Given the description of an element on the screen output the (x, y) to click on. 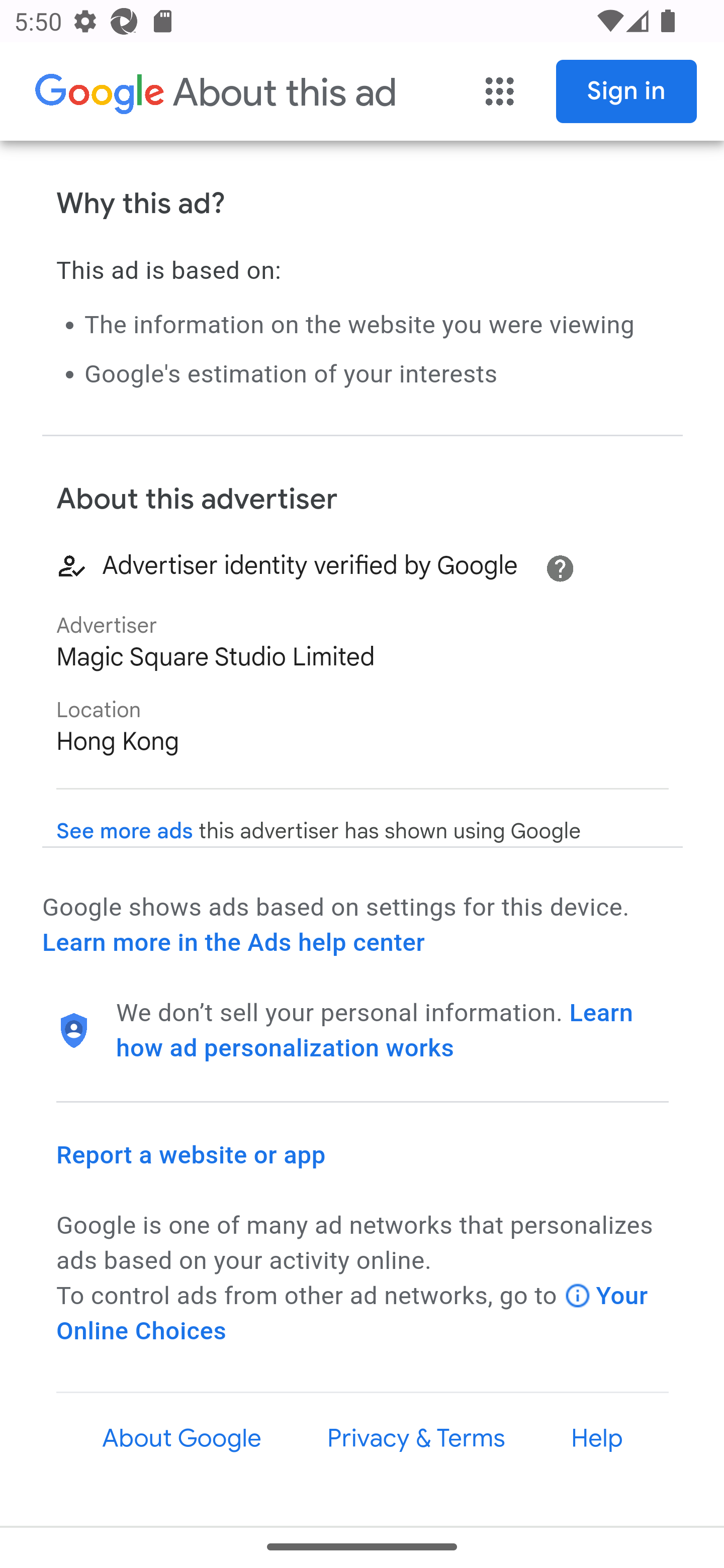
Report ad (opens in new tab) Report ad (122, 75)
Google apps (499, 92)
Sign in (627, 91)
See more ads (opens in new tab) See more ads (124, 830)
Learn more in the Ads help center (233, 942)
Learn how ad personalization works (374, 1030)
Report a website or app (191, 1155)
Your Online Choices (352, 1313)
About Google (182, 1438)
Privacy & Terms (415, 1438)
Help (597, 1438)
